Given the description of an element on the screen output the (x, y) to click on. 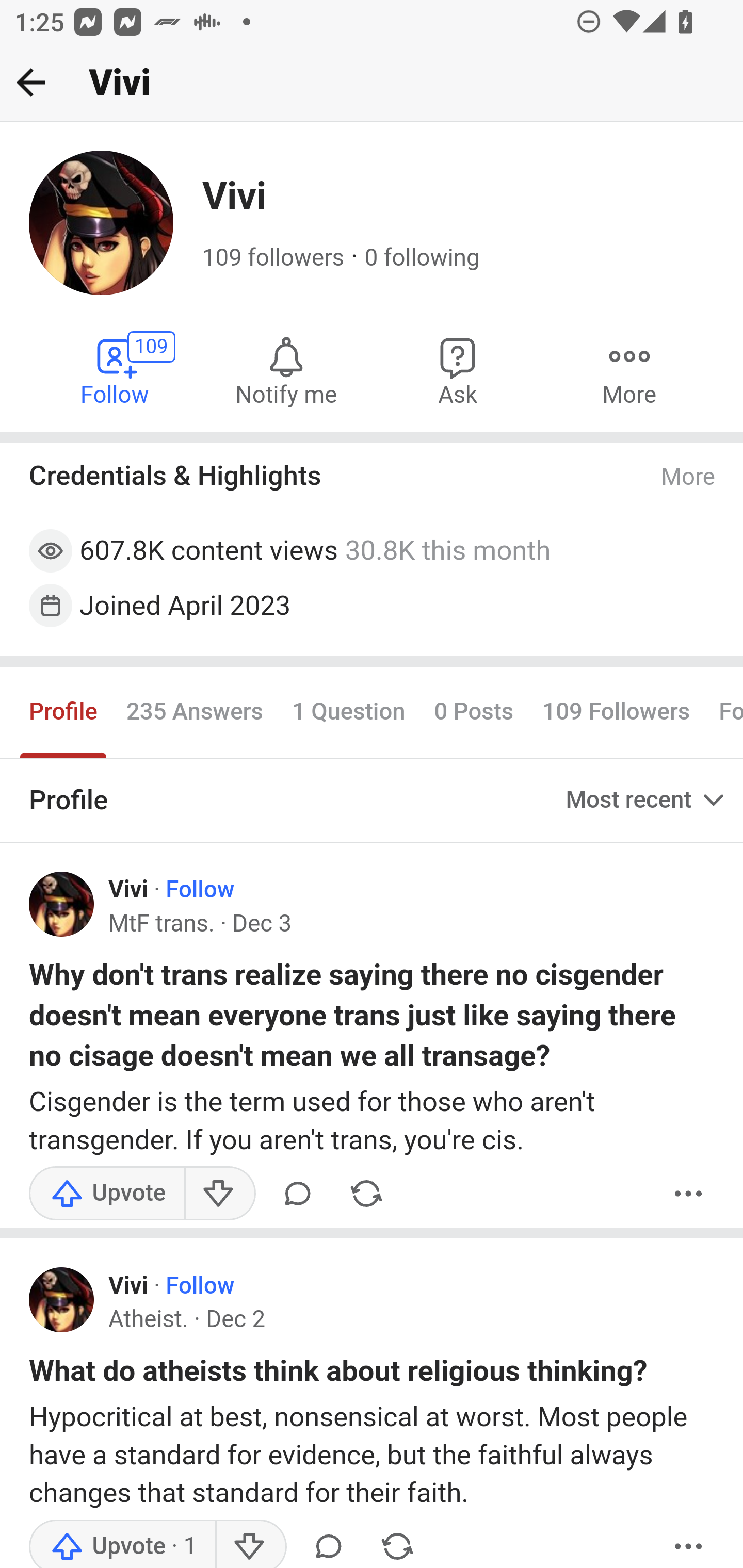
Back (30, 82)
109 followers (273, 257)
0 following (421, 257)
Follow Vivi 109 Follow (115, 370)
Notify me (285, 370)
Ask (458, 370)
More (628, 370)
More (688, 477)
Profile (63, 712)
235 Answers (193, 712)
1 Question (348, 712)
0 Posts (474, 712)
109 Followers (616, 712)
Most recent (647, 799)
Profile photo for Vivi (61, 903)
Vivi (127, 889)
Follow (199, 889)
Upvote (106, 1193)
Downvote (219, 1193)
Comment (297, 1193)
Share (366, 1193)
More (688, 1193)
Profile photo for Vivi (61, 1299)
Vivi (127, 1286)
Follow (199, 1286)
Upvote (122, 1543)
Downvote (249, 1543)
Comment (328, 1543)
Share (397, 1543)
More (688, 1543)
